Given the description of an element on the screen output the (x, y) to click on. 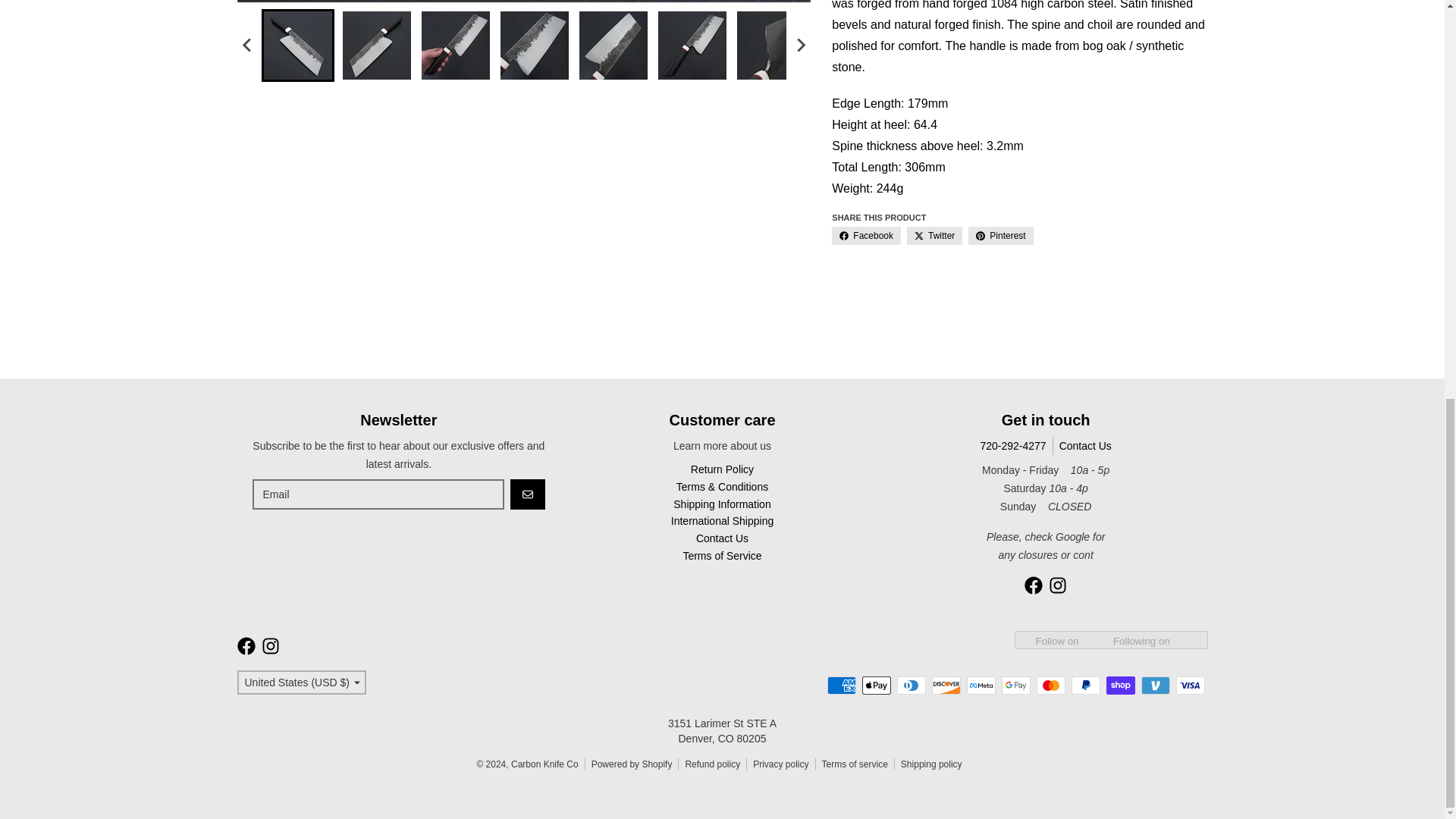
Facebook - Carbon Knife Co (244, 646)
Instagram - Carbon Knife Co (1057, 585)
Instagram - Carbon Knife Co (269, 646)
Facebook - Carbon Knife Co (1033, 585)
